Given the description of an element on the screen output the (x, y) to click on. 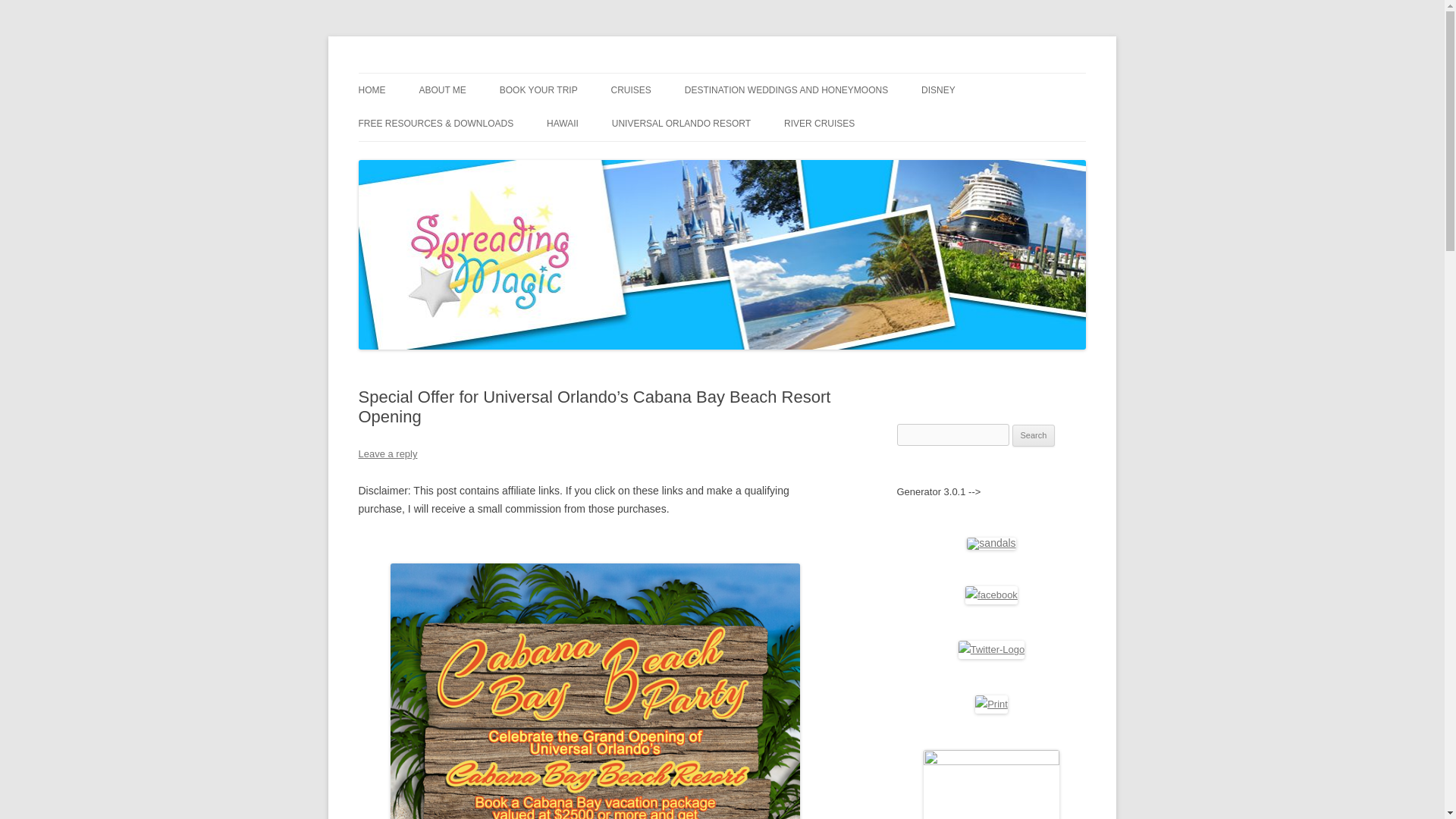
DISNEY (938, 90)
Print by DestinationsInFlorida, on Flickr (991, 704)
HAWAII (562, 123)
sandals by DestinationsToExplore, on Flickr (990, 542)
BOOK YOUR TRIP (538, 90)
UNIVERSAL ORLANDO RESORT (681, 123)
Leave a reply (387, 453)
Search (1033, 436)
ABOUT ME (442, 90)
